Given the description of an element on the screen output the (x, y) to click on. 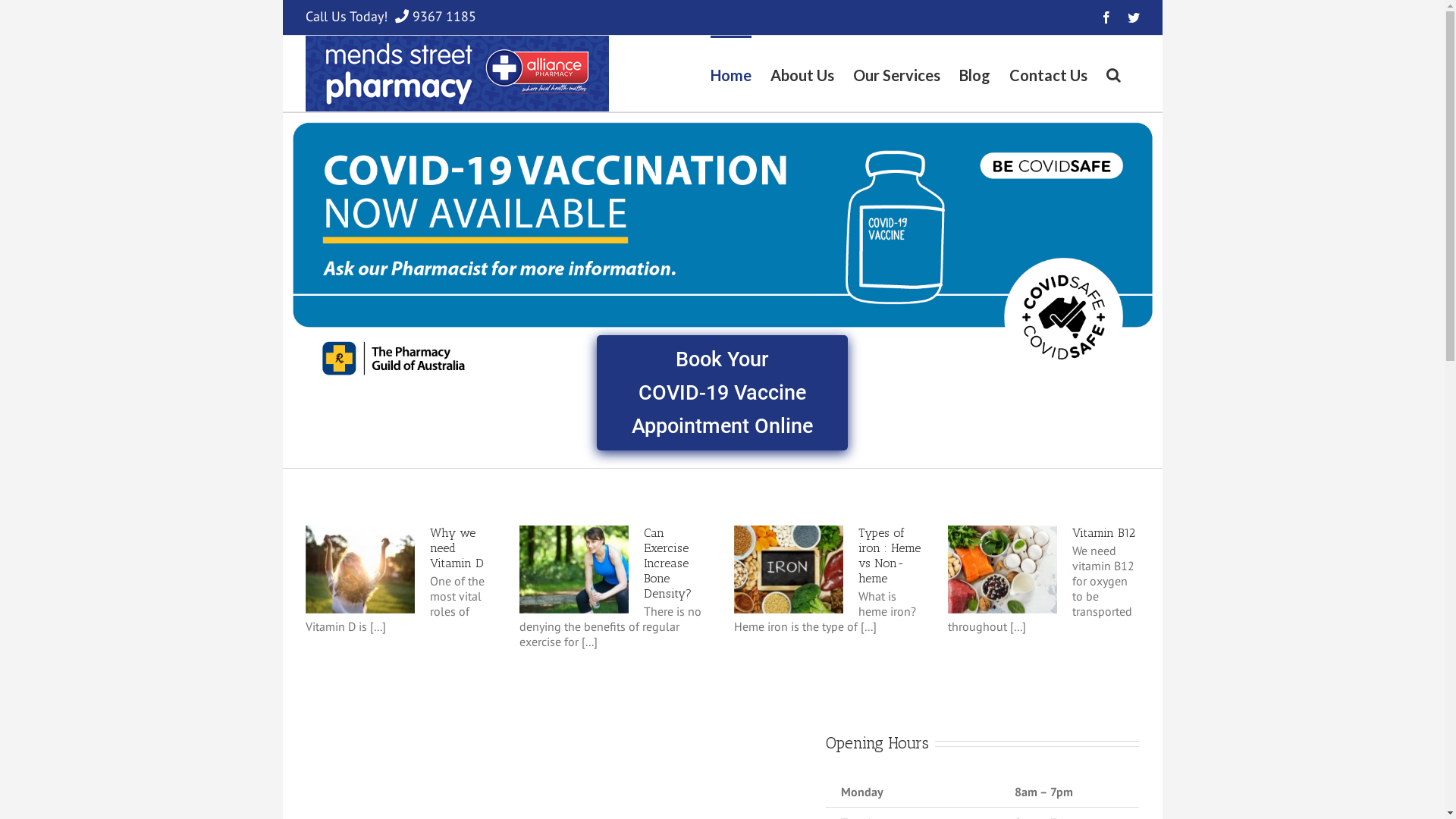
Our Services Element type: text (895, 73)
Blog Element type: text (973, 73)
Why we need Vitamin D Element type: text (456, 547)
Vitamin B12 Element type: text (1103, 532)
Types of iron : Heme vs Non-heme Element type: text (889, 555)
Search Element type: hover (1112, 73)
Contact Us Element type: text (1047, 73)
9367 1185 Element type: text (444, 16)
Facebook Element type: text (1105, 17)
Can Exercise Increase Bone Density? Element type: text (667, 562)
About Us Element type: text (802, 73)
Book Your

COVID-19 Vaccine

Appointment Online Element type: text (721, 392)
Home Element type: text (729, 73)
Twitter Element type: text (1132, 17)
